Given the description of an element on the screen output the (x, y) to click on. 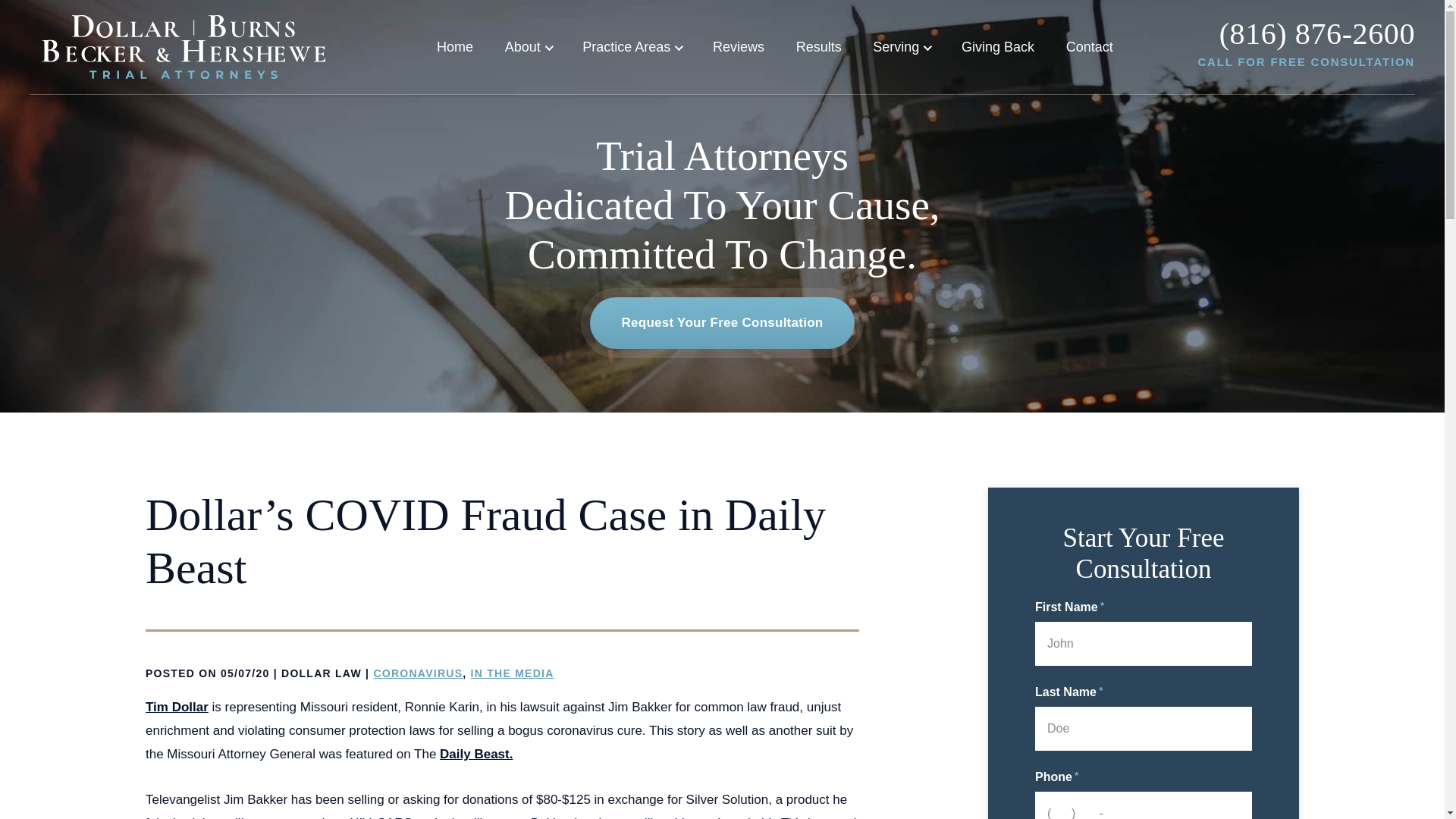
Posts by Dollar Law (321, 673)
Serving (901, 46)
Daily Beast. (475, 753)
Request Your Free Consultation (721, 322)
Practice Areas (631, 46)
IN THE MEDIA (512, 673)
Reviews (738, 46)
Home (454, 46)
Tim Dollar (176, 707)
Results (818, 46)
Phone (1317, 33)
Giving Back (996, 46)
CORONAVIRUS (417, 673)
Contact (1089, 46)
DOLLAR LAW (321, 673)
